Given the description of an element on the screen output the (x, y) to click on. 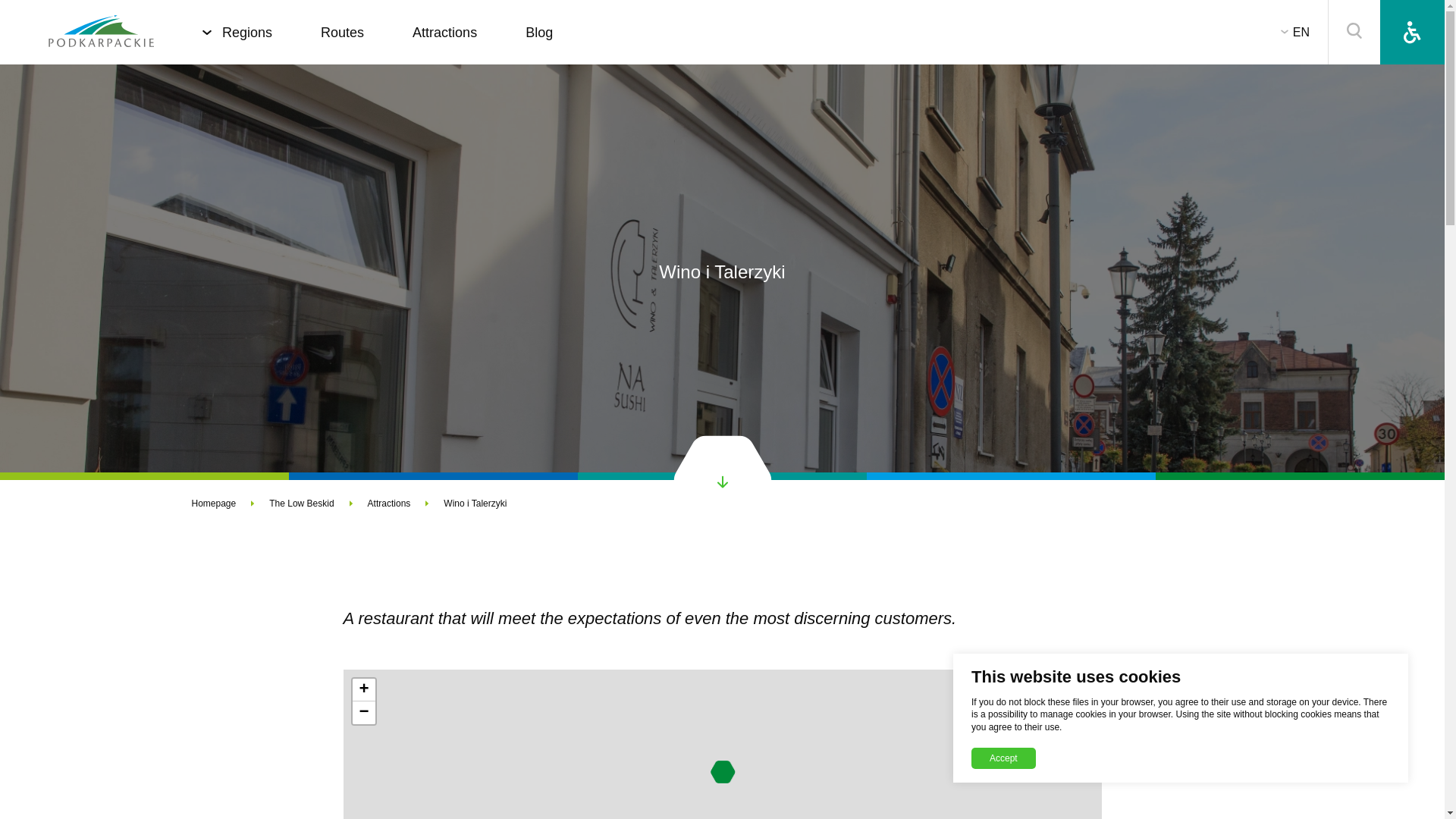
Homepage (229, 502)
Blog (539, 31)
Zoom in (363, 689)
Routes (342, 31)
Attractions (406, 502)
Zoom out (363, 712)
Homepage (101, 32)
The Low Beskid (317, 502)
Attractions (444, 31)
Regions (247, 31)
